Given the description of an element on the screen output the (x, y) to click on. 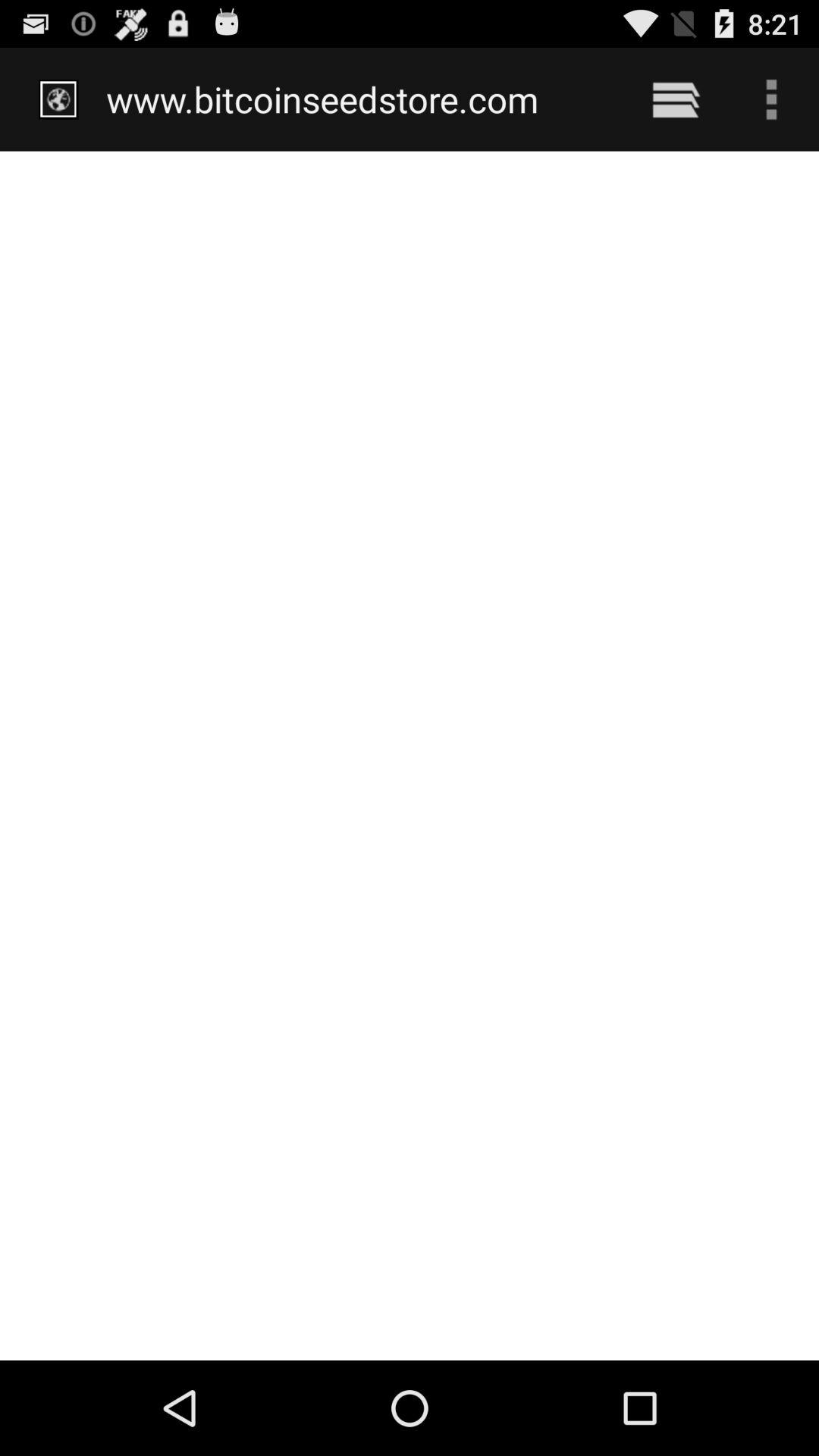
jump to the www.bitcoinseedstore.com item (357, 99)
